Given the description of an element on the screen output the (x, y) to click on. 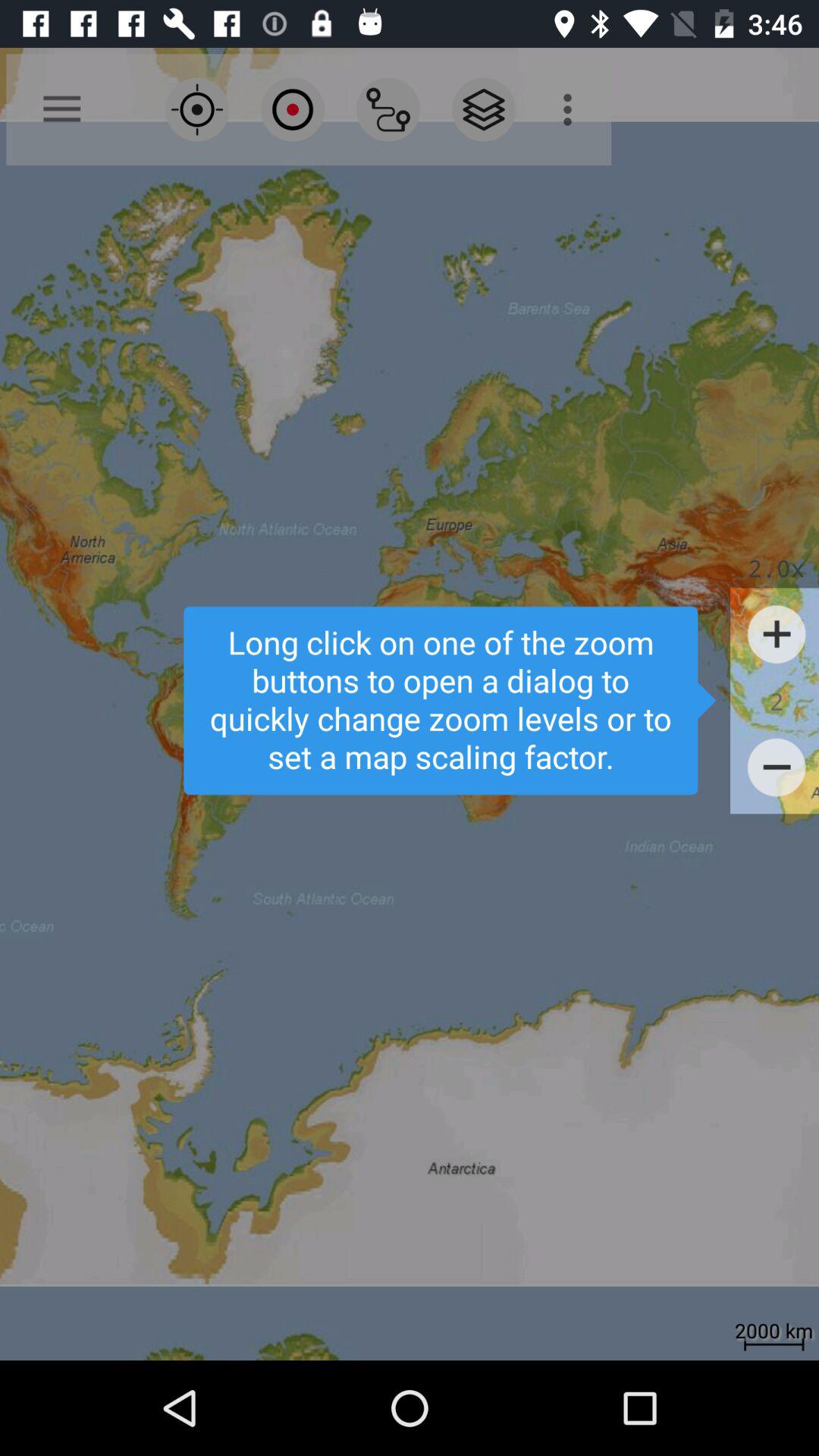
press the icon at the top right corner (571, 109)
